Given the description of an element on the screen output the (x, y) to click on. 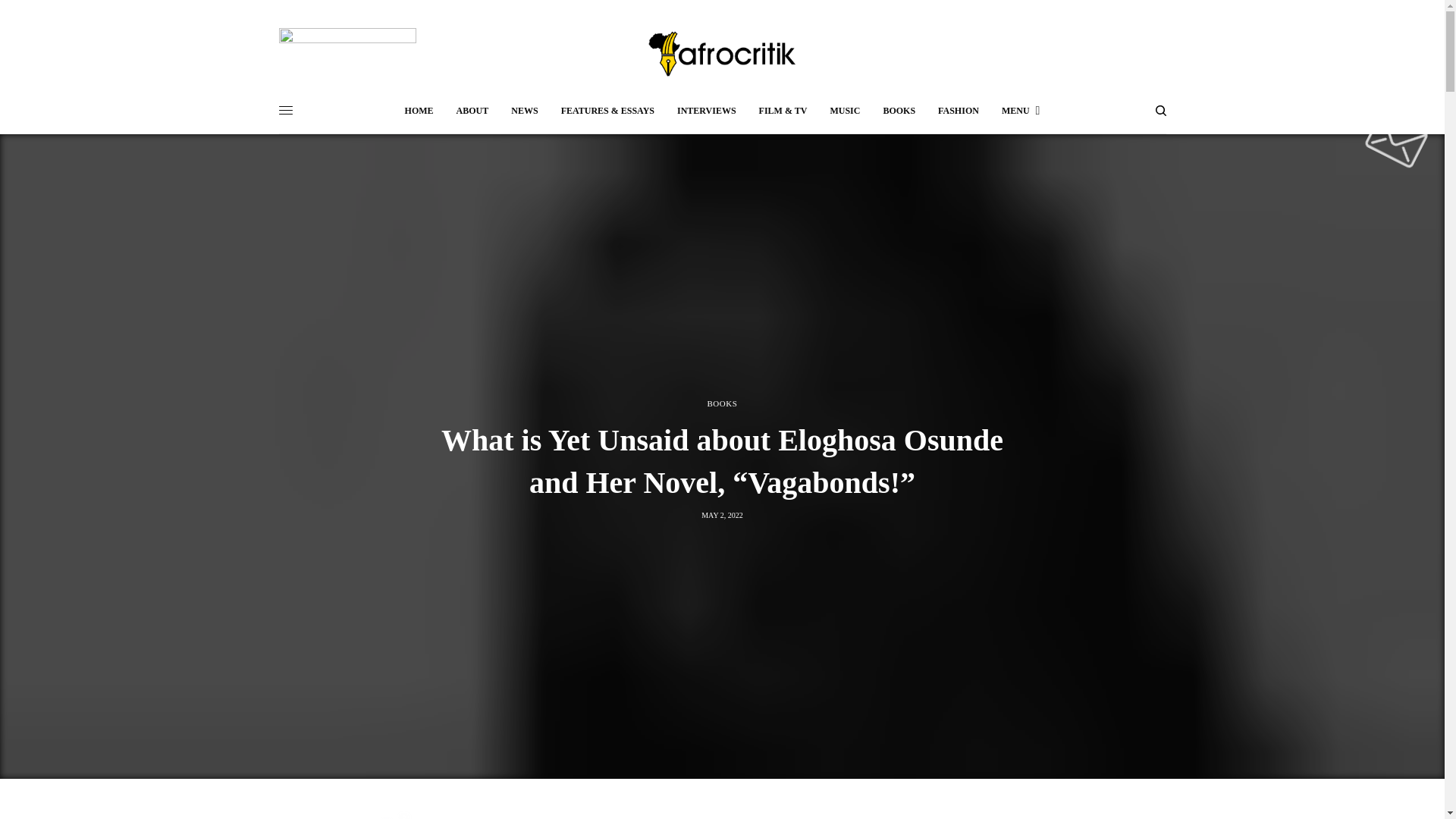
Afrocritik (721, 53)
BOOKS (721, 403)
INTERVIEWS (706, 110)
FASHION (957, 110)
